Given the description of an element on the screen output the (x, y) to click on. 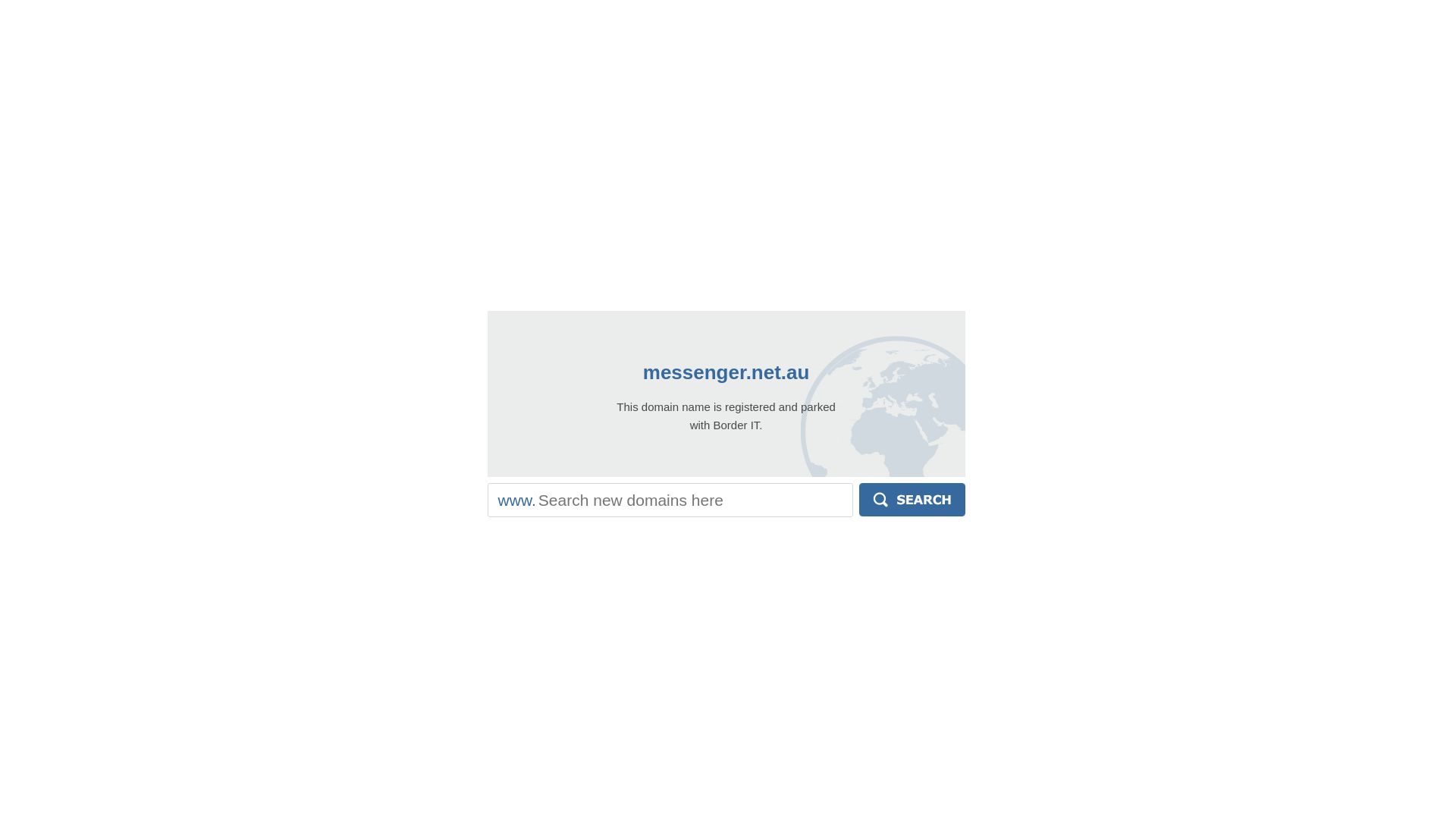
Search Element type: text (912, 499)
